Given the description of an element on the screen output the (x, y) to click on. 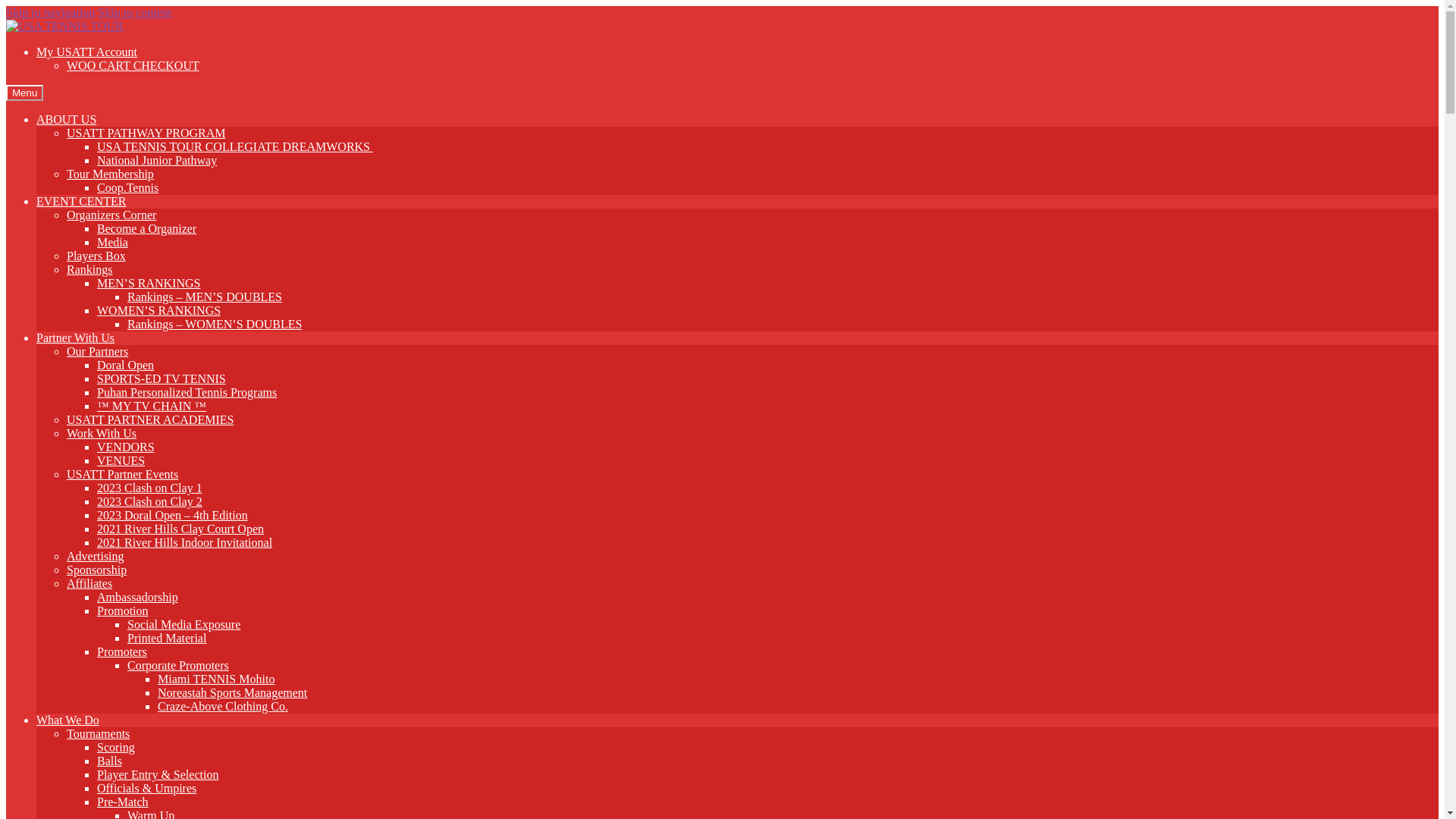
Our Partners Element type: text (97, 351)
What We Do Element type: text (67, 719)
Coop.Tennis Element type: text (127, 187)
Puhan Personalized Tennis Programs Element type: text (186, 391)
VENUES Element type: text (120, 460)
2021 River Hills Indoor Invitational Element type: text (184, 542)
Craze-Above Clothing Co. Element type: text (222, 705)
Skip to navigation Element type: text (50, 12)
Affiliates Element type: text (89, 583)
Promotion Element type: text (122, 610)
Doral Open Element type: text (125, 364)
USA TENNIS TOUR COLLEGIATE DREAMWORKS  Element type: text (235, 146)
Printed Material Element type: text (166, 637)
Miami TENNIS Mohito Element type: text (215, 678)
USATT PATHWAY PROGRAM Element type: text (145, 132)
Skip to content Element type: text (134, 12)
2021 River Hills Clay Court Open Element type: text (180, 528)
EVENT CENTER Element type: text (80, 200)
Organizers Corner Element type: text (111, 214)
National Junior Pathway Element type: text (156, 159)
WOO CART CHECKOUT Element type: text (132, 65)
Become a Organizer Element type: text (146, 228)
Player Entry & Selection Element type: text (157, 774)
Noreastah Sports Management Element type: text (232, 692)
Scoring Element type: text (115, 746)
My USATT Account Element type: text (86, 51)
USATT PARTNER ACADEMIES Element type: text (149, 419)
Ambassadorship Element type: text (137, 596)
Tournaments Element type: text (97, 733)
Social Media Exposure Element type: text (183, 624)
2023 Clash on Clay 2 Element type: text (149, 501)
Advertising Element type: text (95, 555)
Sponsorship Element type: text (96, 569)
Rankings Element type: text (89, 269)
Media Element type: text (112, 241)
2023 Clash on Clay 1 Element type: text (149, 487)
Tour Membership Element type: text (109, 173)
SPORTS-ED TV TENNIS Element type: text (161, 378)
USATT Partner Events Element type: text (122, 473)
Balls Element type: text (109, 760)
Players Box Element type: text (95, 255)
Partner With Us Element type: text (75, 337)
Officials & Umpires Element type: text (146, 787)
Pre-Match Element type: text (122, 801)
Work With Us Element type: text (101, 432)
ABOUT US Element type: text (66, 118)
Promoters Element type: text (122, 651)
VENDORS Element type: text (125, 446)
Corporate Promoters Element type: text (178, 664)
Menu Element type: text (24, 92)
